Given the description of an element on the screen output the (x, y) to click on. 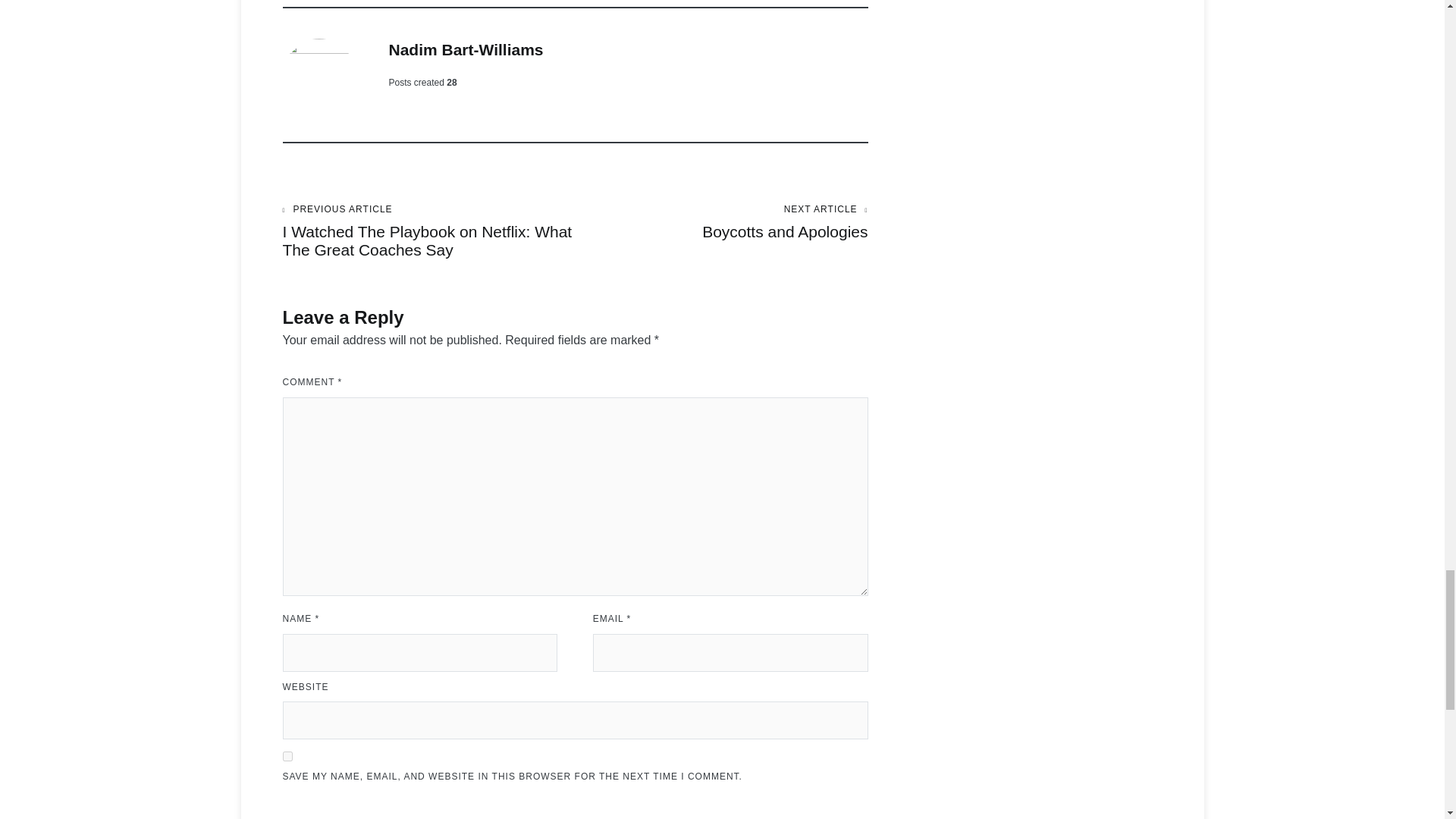
Nadim Bart-Williams (465, 49)
yes (287, 756)
Posts by Nadim Bart-Williams (465, 49)
